Given the description of an element on the screen output the (x, y) to click on. 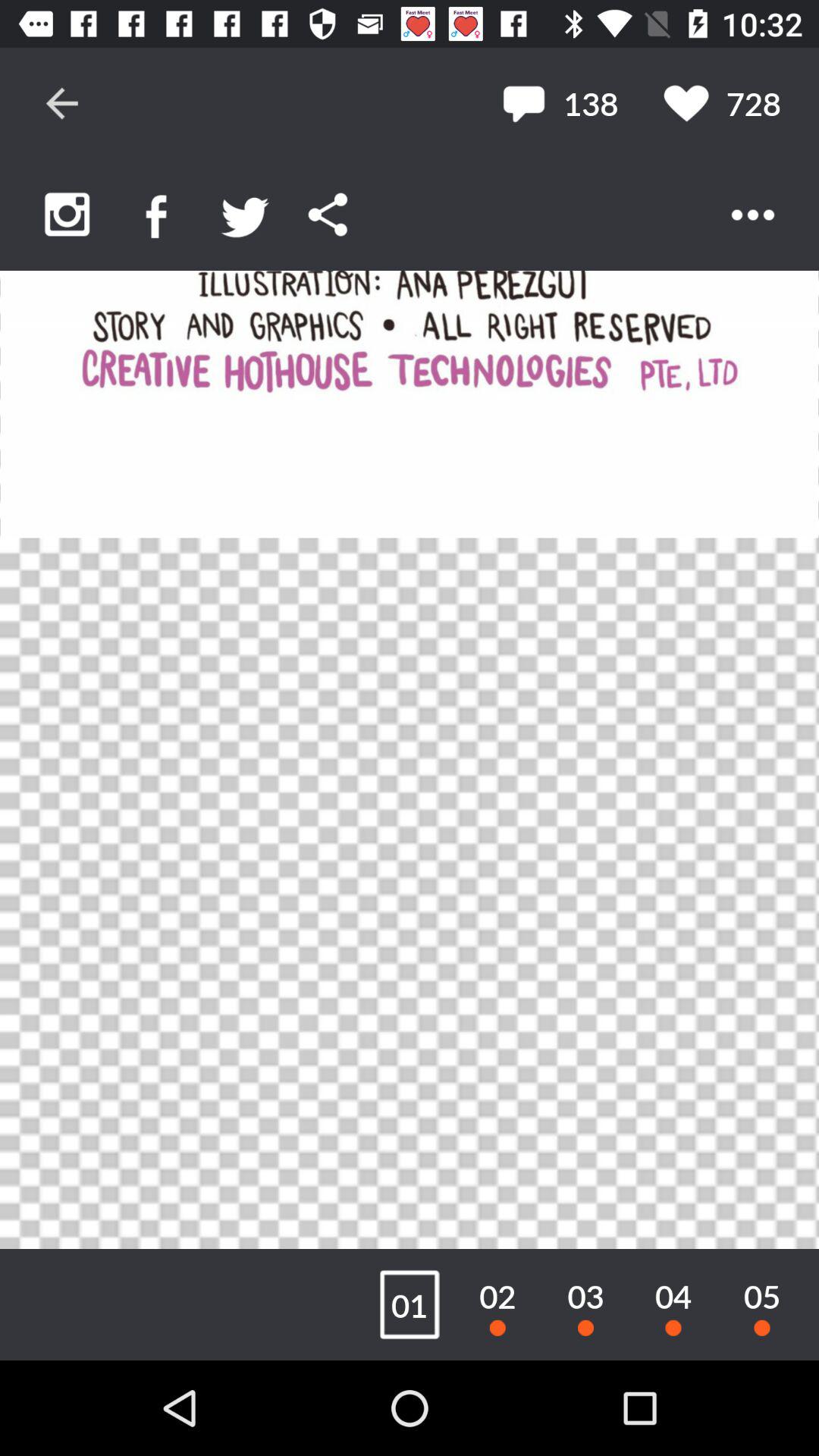
turn on the item below the 728  item (752, 214)
